Given the description of an element on the screen output the (x, y) to click on. 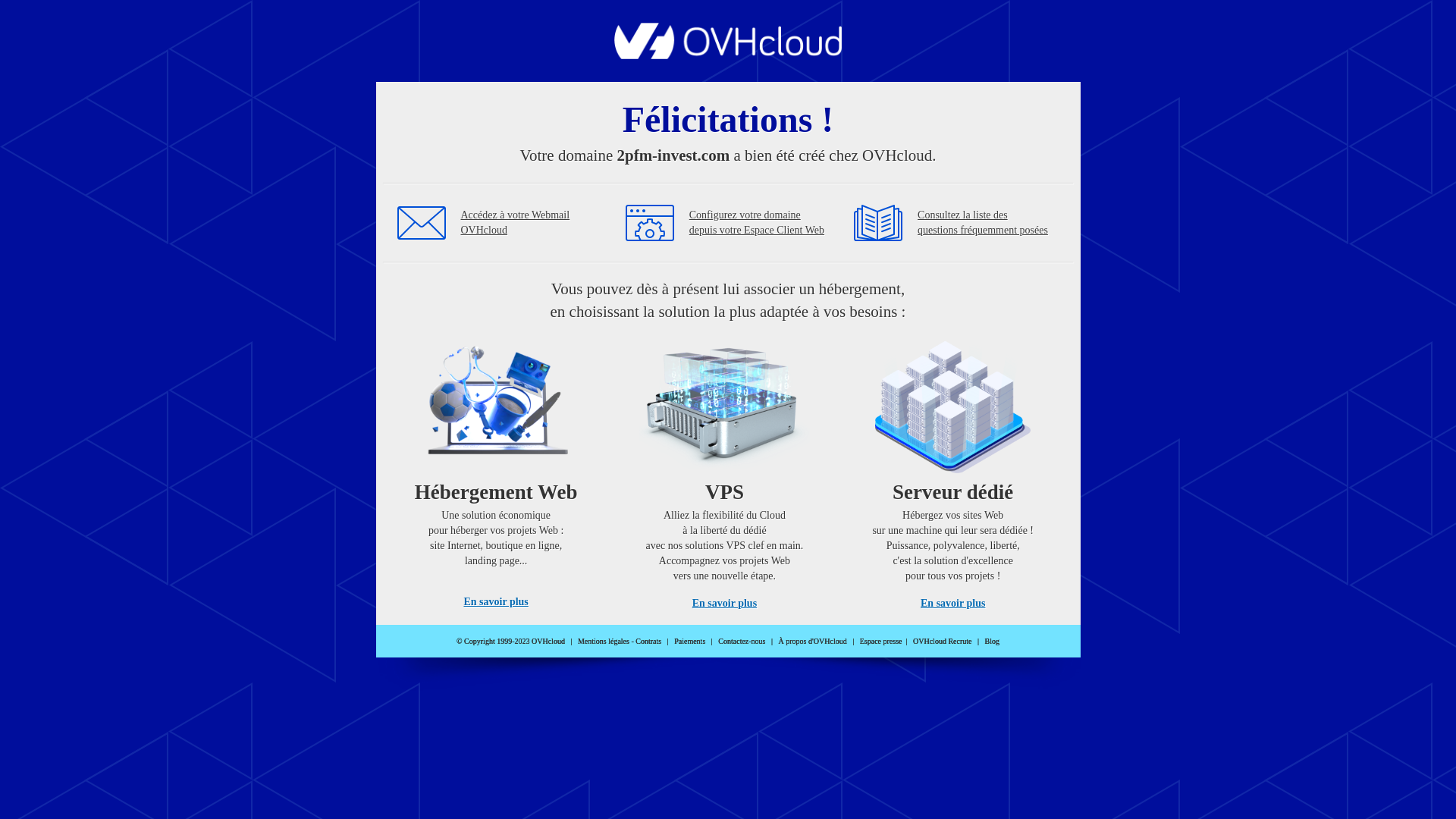
OVHcloud Recrute Element type: text (942, 641)
En savoir plus Element type: text (495, 601)
Blog Element type: text (992, 641)
En savoir plus Element type: text (724, 602)
Configurez votre domaine
depuis votre Espace Client Web Element type: text (756, 222)
Contactez-nous Element type: text (741, 641)
Espace presse Element type: text (880, 641)
Paiements Element type: text (689, 641)
VPS Element type: hover (724, 469)
OVHcloud Element type: hover (727, 54)
En savoir plus Element type: text (952, 602)
